Given the description of an element on the screen output the (x, y) to click on. 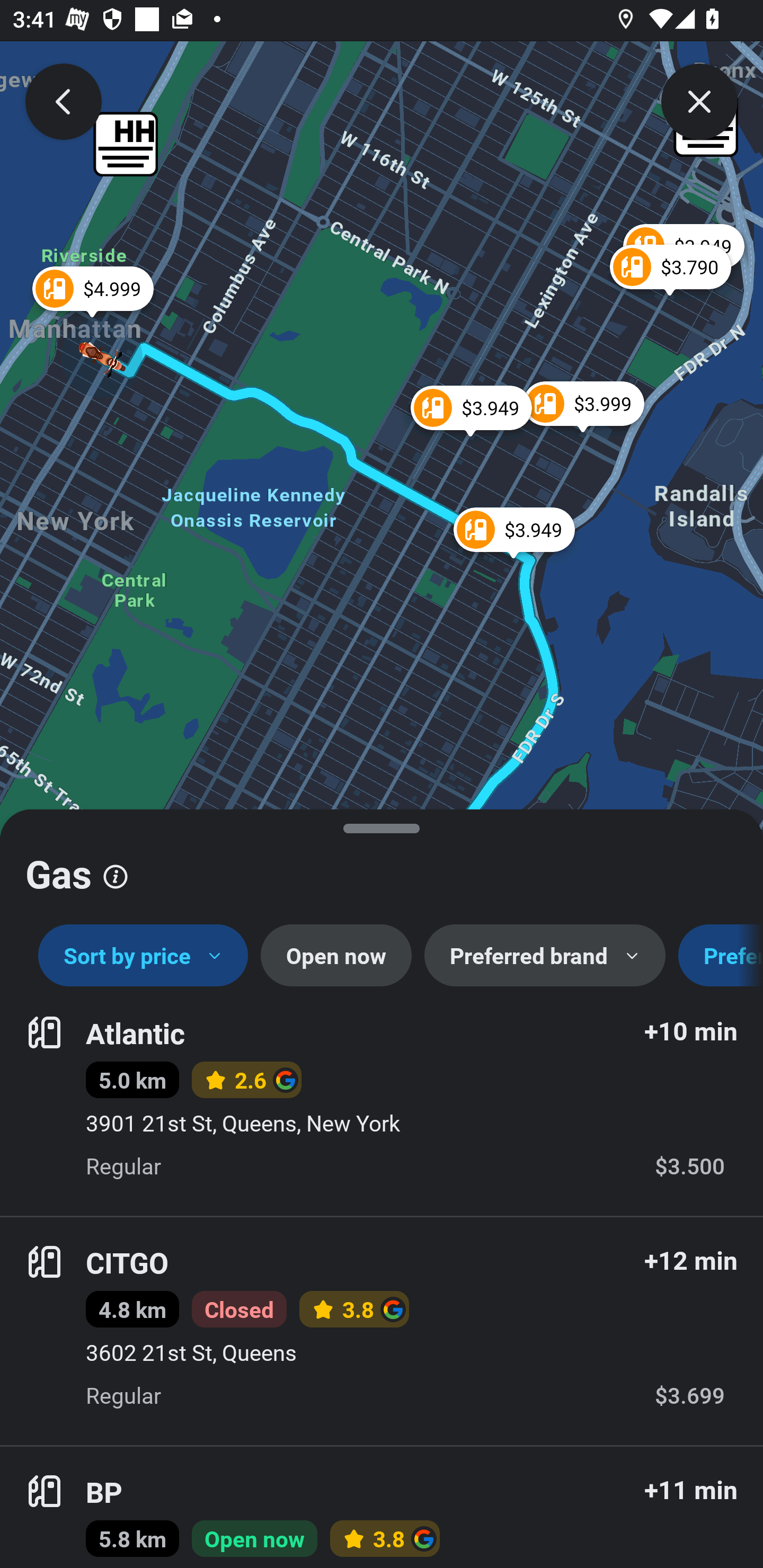
Gas (381, 867)
Sort by price (142, 955)
Open now (336, 955)
Preferred brand (544, 955)
Preferred gas type (720, 955)
